Given the description of an element on the screen output the (x, y) to click on. 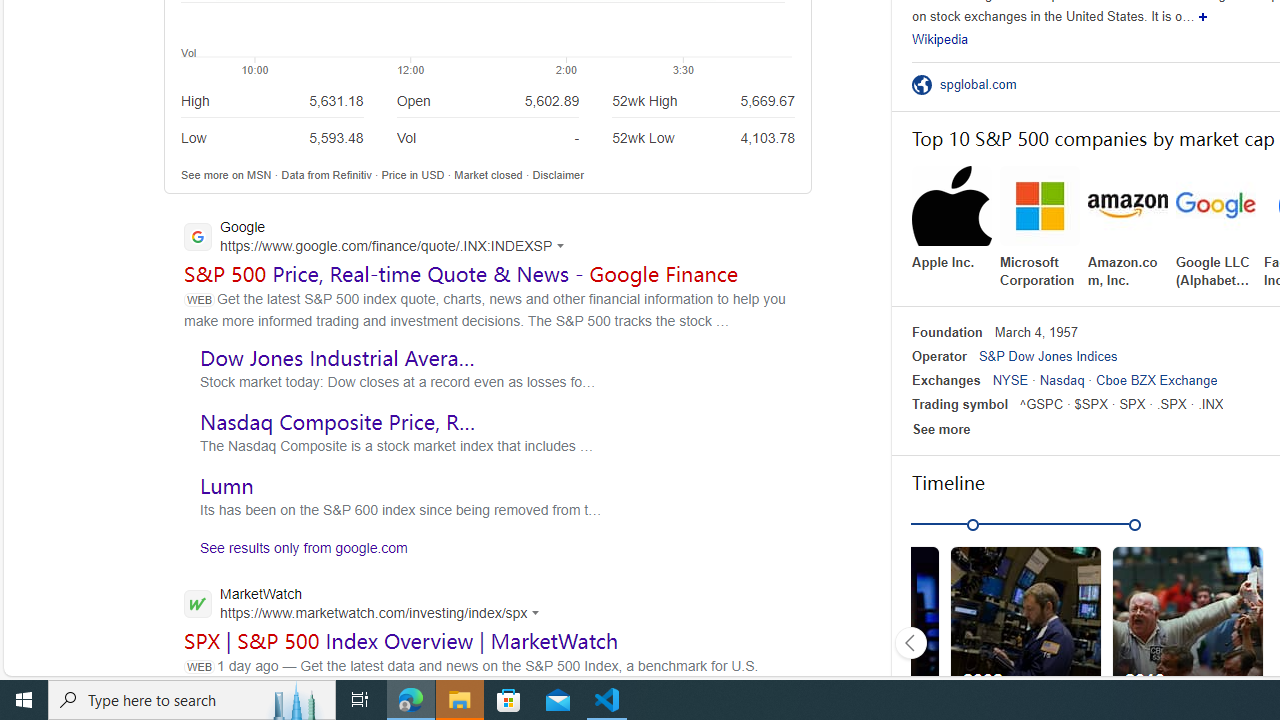
Nasdaq (1062, 380)
Amazon.com, Inc. (1127, 228)
SPX | S&P 500 Index Overview | MarketWatch (401, 640)
MSN (259, 173)
Google (380, 237)
Microsoft Corporation (1039, 228)
NYSE (1010, 380)
Microsoft Corporation (1039, 228)
Global web icon (197, 603)
See results only from google.com (296, 551)
Click to scroll left (910, 642)
Actions for this site (538, 611)
